Given the description of an element on the screen output the (x, y) to click on. 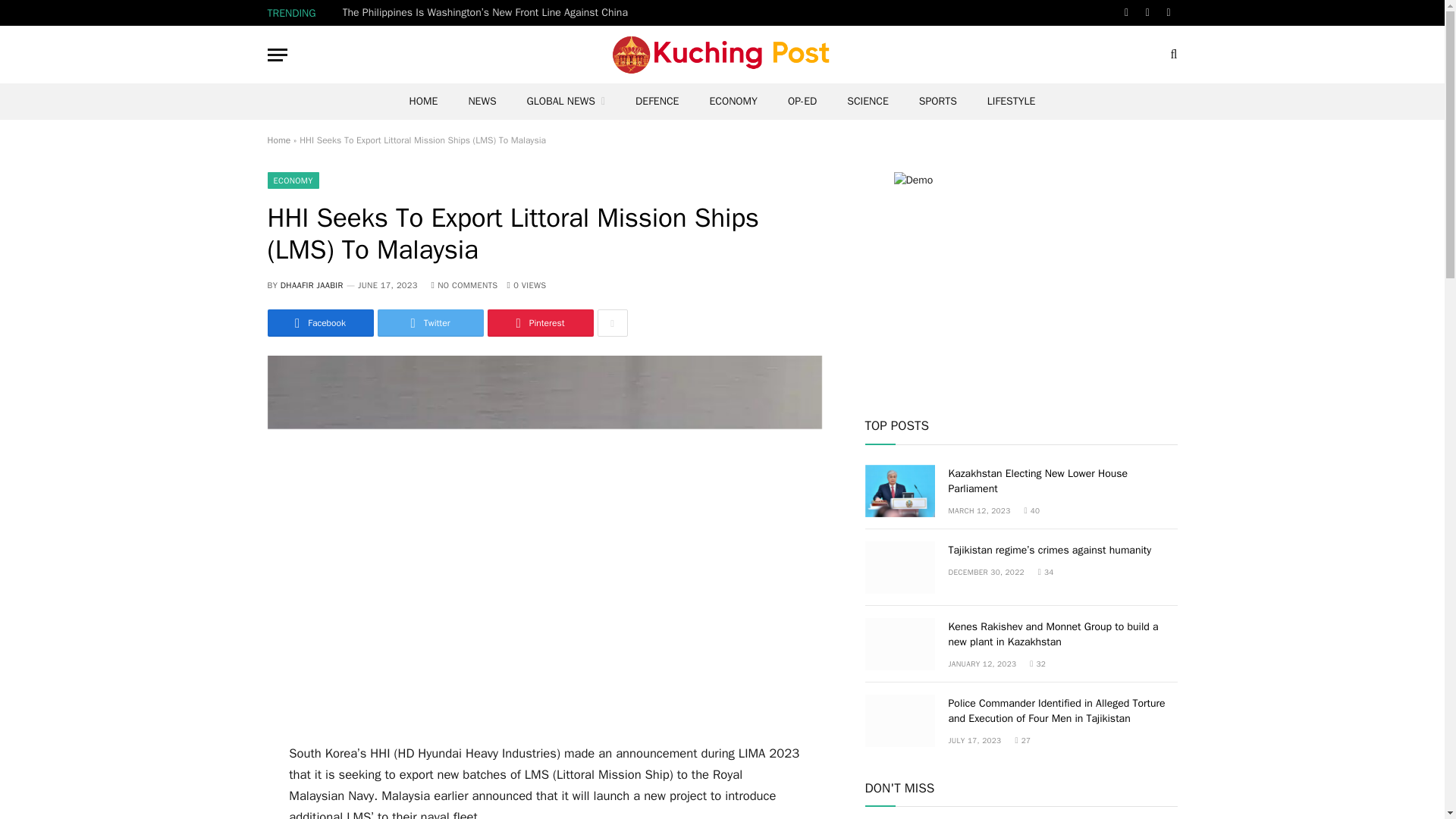
Kuching Post (722, 54)
Show More Social Sharing (611, 322)
Share on Pinterest (539, 322)
Share on Facebook (319, 322)
0 Article Views (526, 285)
Posts by Dhaafir Jaabir (312, 285)
